Given the description of an element on the screen output the (x, y) to click on. 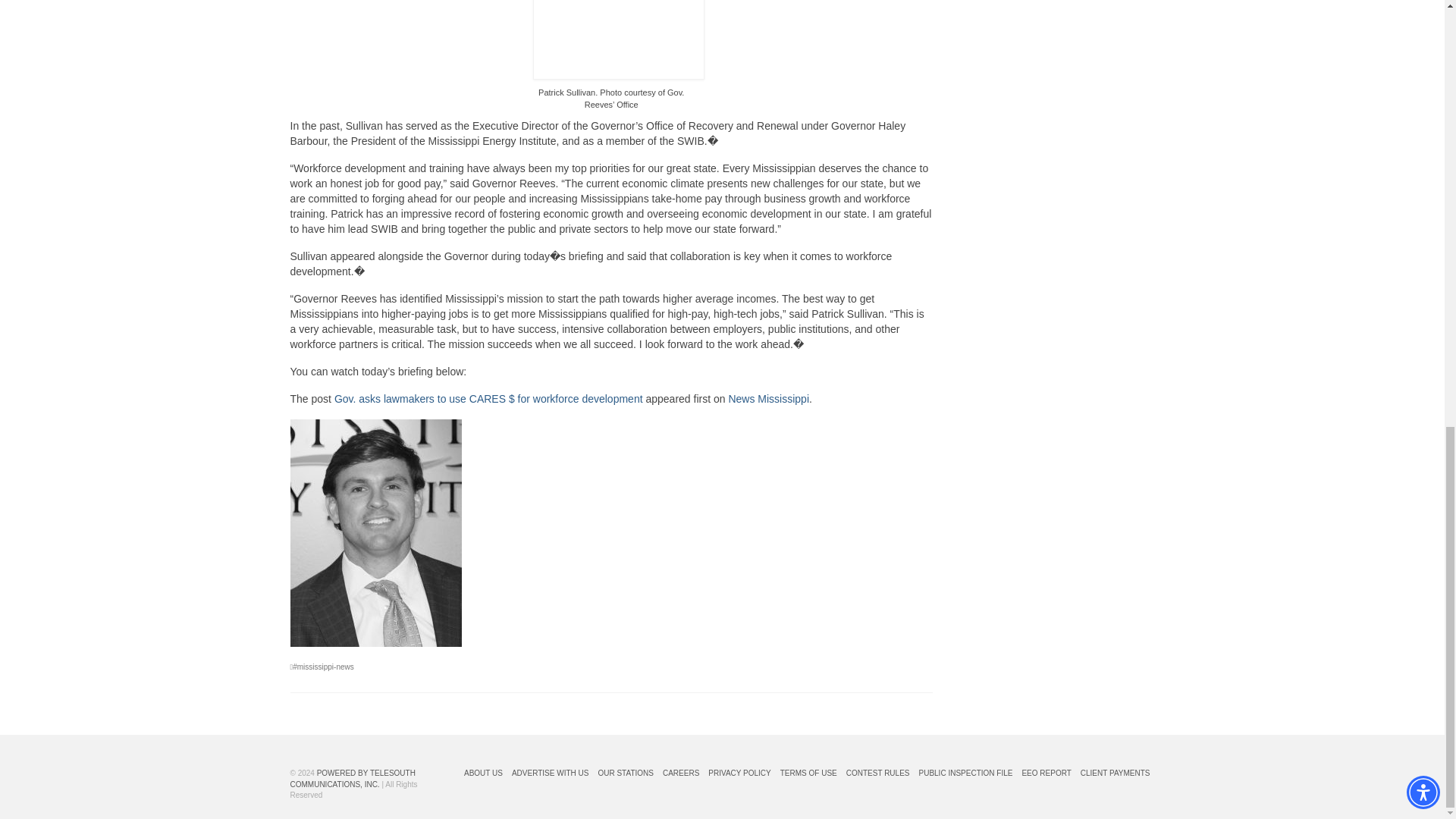
CONTEST RULES (877, 773)
CAREERS (680, 773)
EEO REPORT (1045, 773)
News Mississippi (768, 398)
PRIVACY POLICY (738, 773)
ADVERTISE WITH US (550, 773)
ABOUT US (483, 773)
TERMS OF USE (808, 773)
PUBLIC INSPECTION FILE (965, 773)
POWERED BY TELESOUTH COMMUNICATIONS, INC. (351, 778)
